Given the description of an element on the screen output the (x, y) to click on. 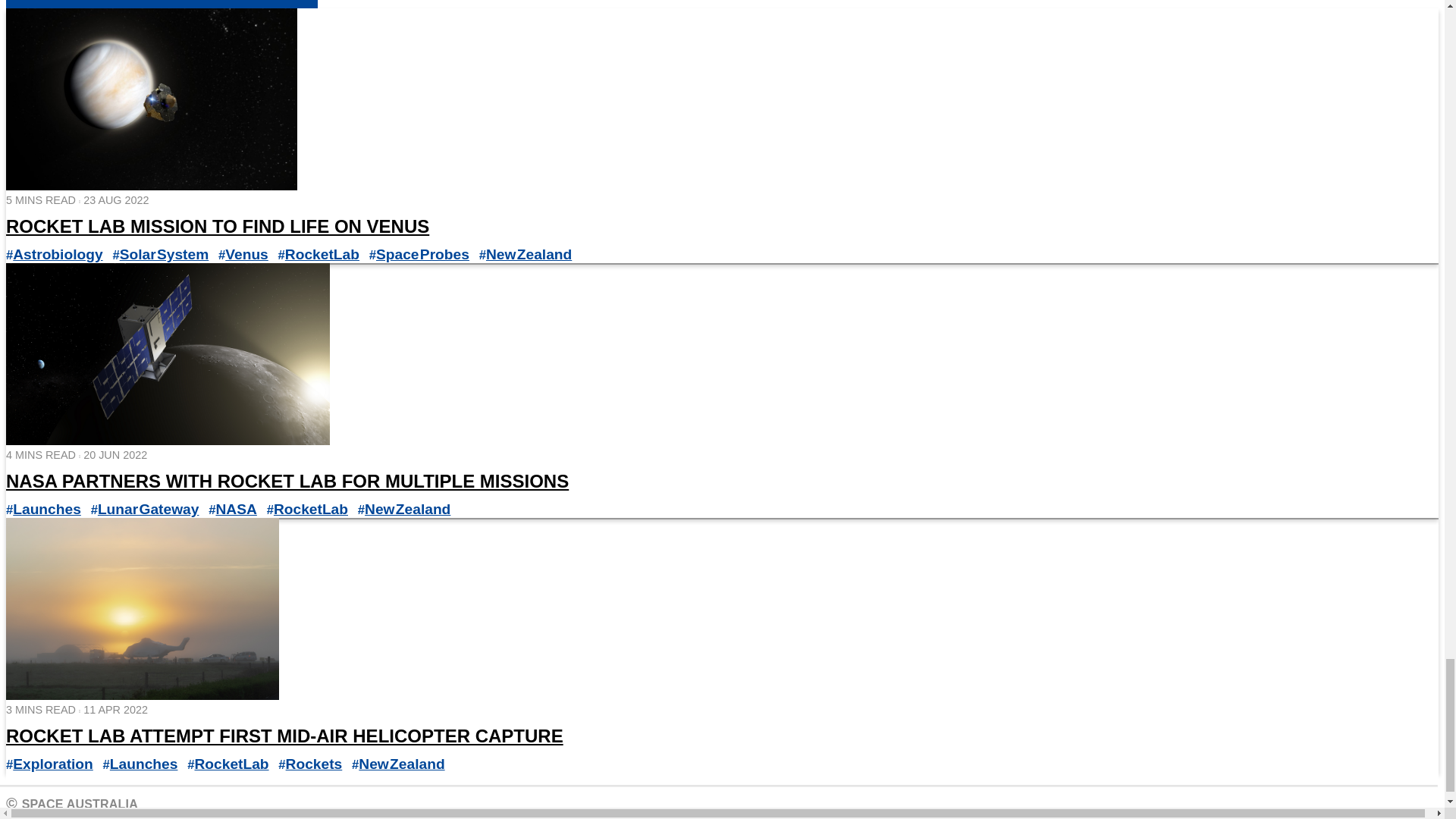
ROCKET LAB MISSION TO FIND LIFE ON VENUS (217, 226)
Solar System (164, 254)
Astrobiology (57, 254)
